Given the description of an element on the screen output the (x, y) to click on. 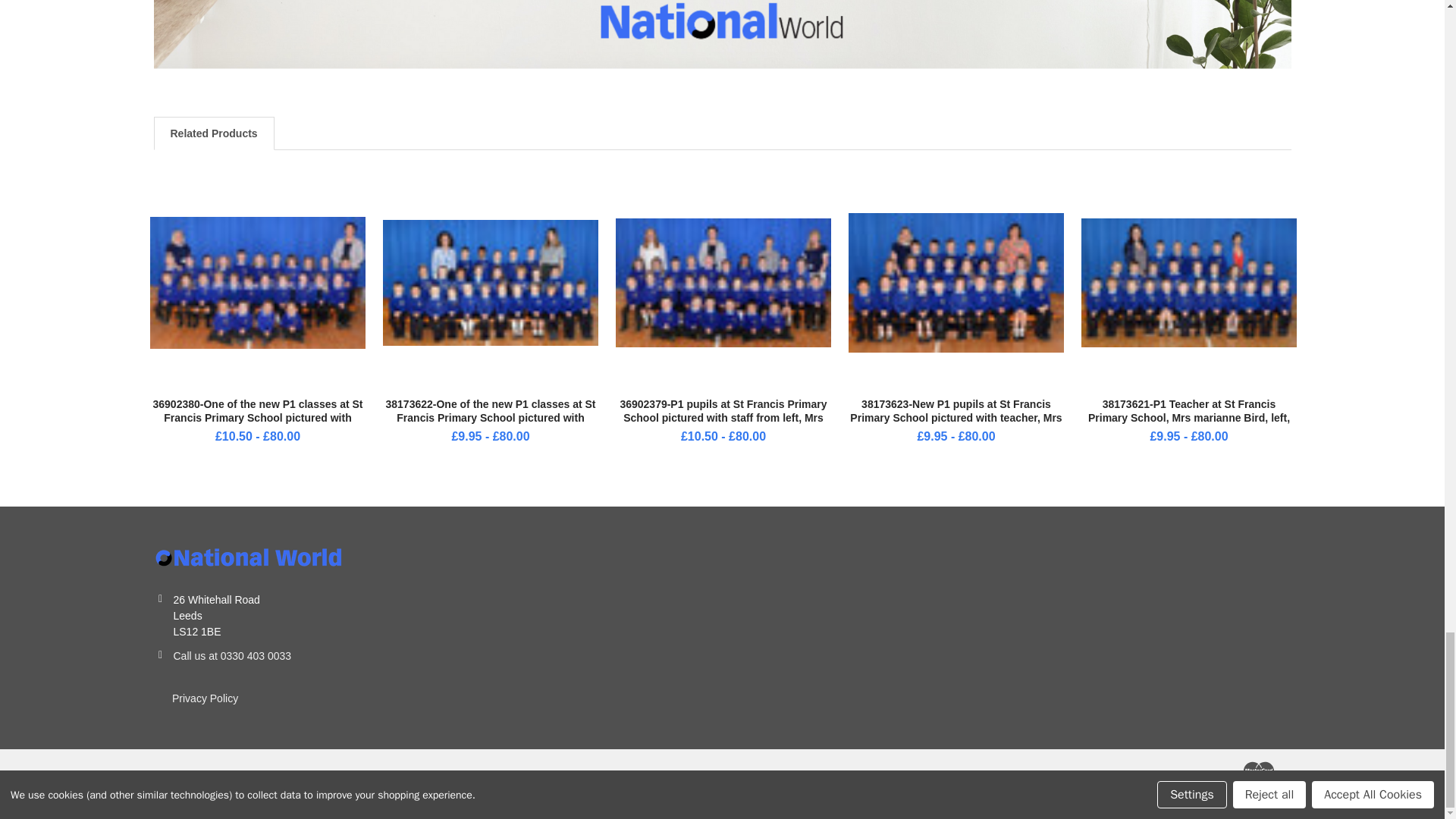
image 1 (257, 282)
image 1 (1188, 282)
image 1 (722, 282)
image 1 (955, 282)
image 1 (489, 282)
